Given the description of an element on the screen output the (x, y) to click on. 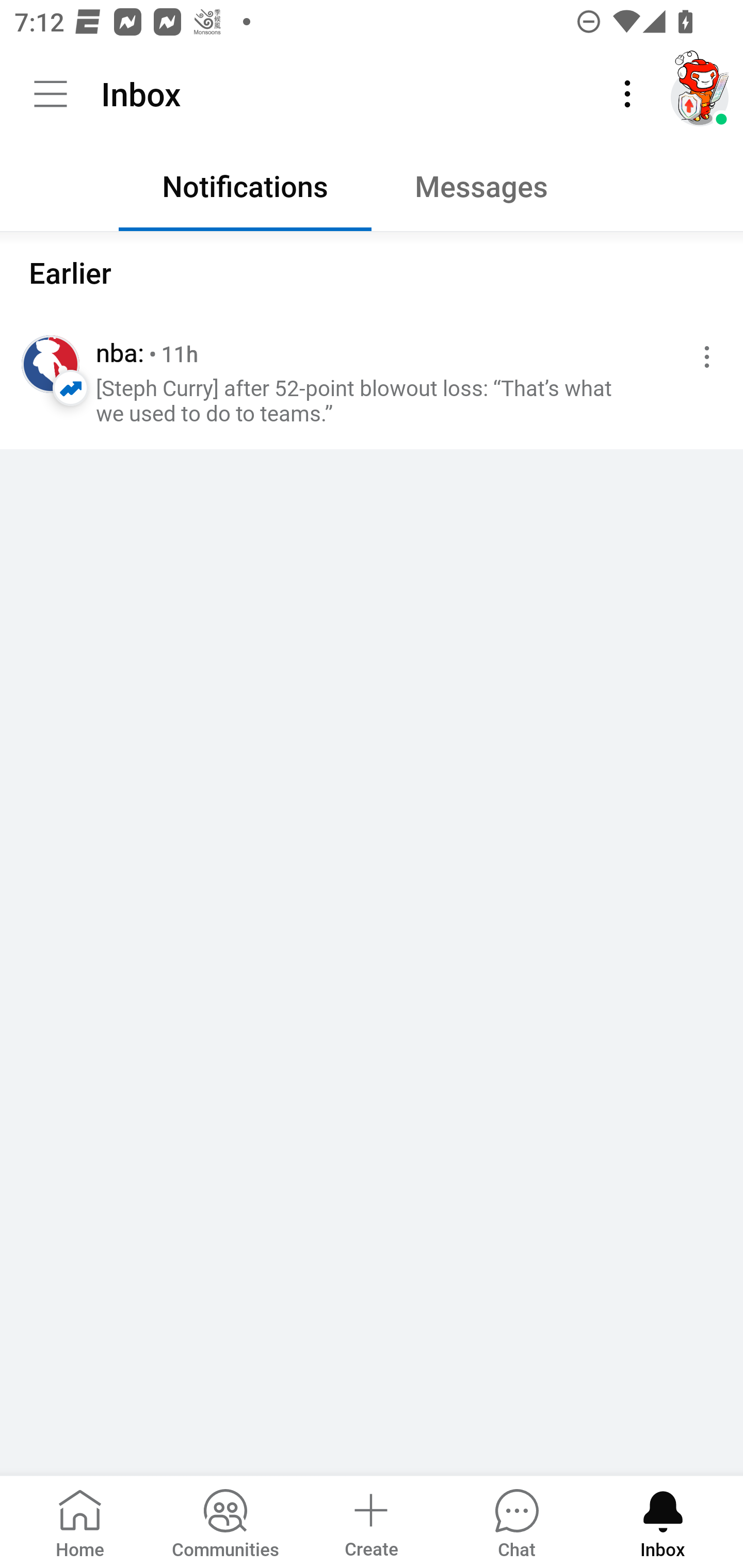
Community menu (50, 93)
More (626, 93)
TestAppium002 account (699, 93)
Messages (497, 191)
More options (703, 356)
Home (80, 1520)
Communities (225, 1520)
Create a post Create (370, 1520)
Chat (516, 1520)
Inbox (662, 1520)
